Given the description of an element on the screen output the (x, y) to click on. 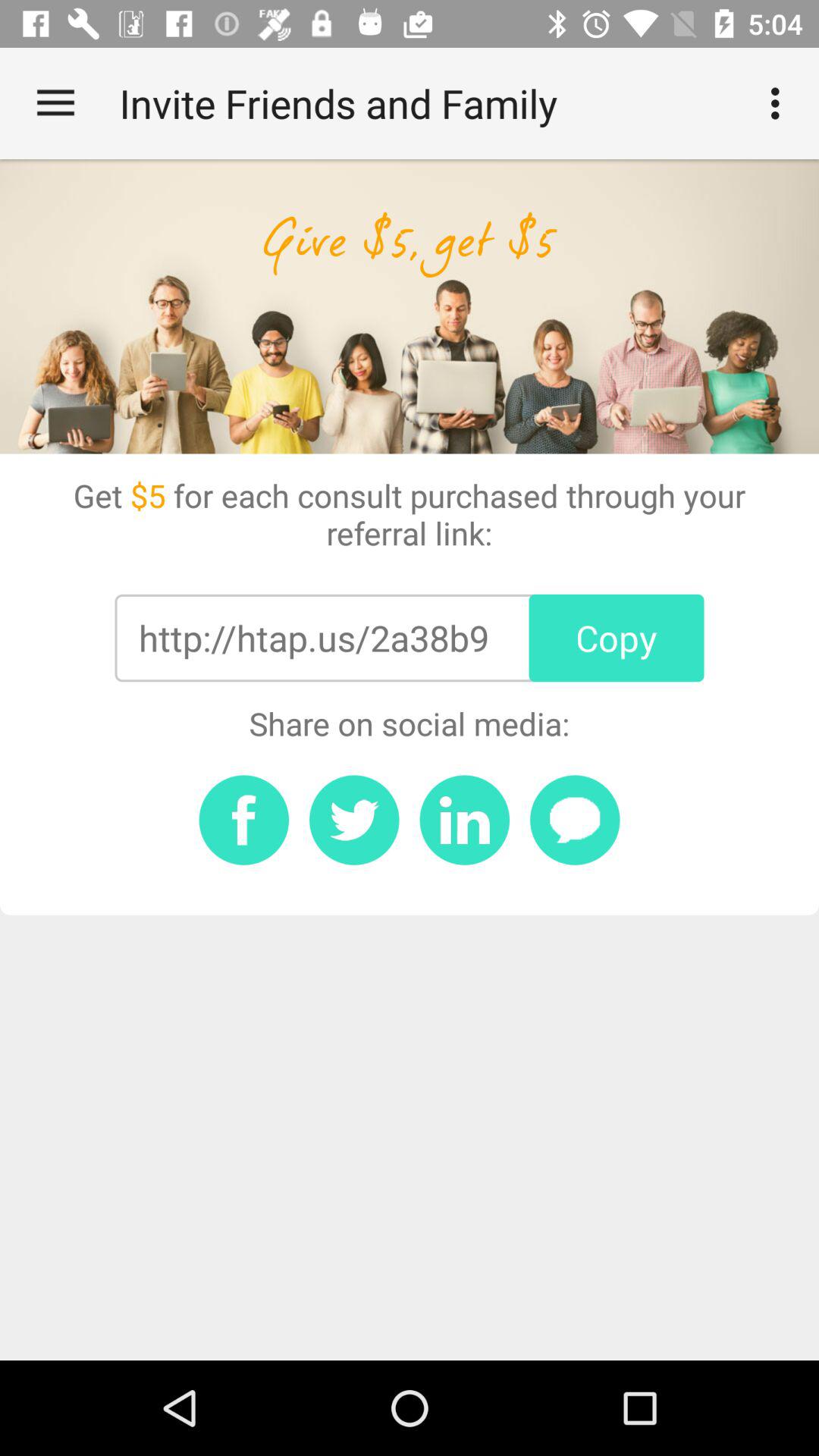
tap item below get 5 for (616, 637)
